Given the description of an element on the screen output the (x, y) to click on. 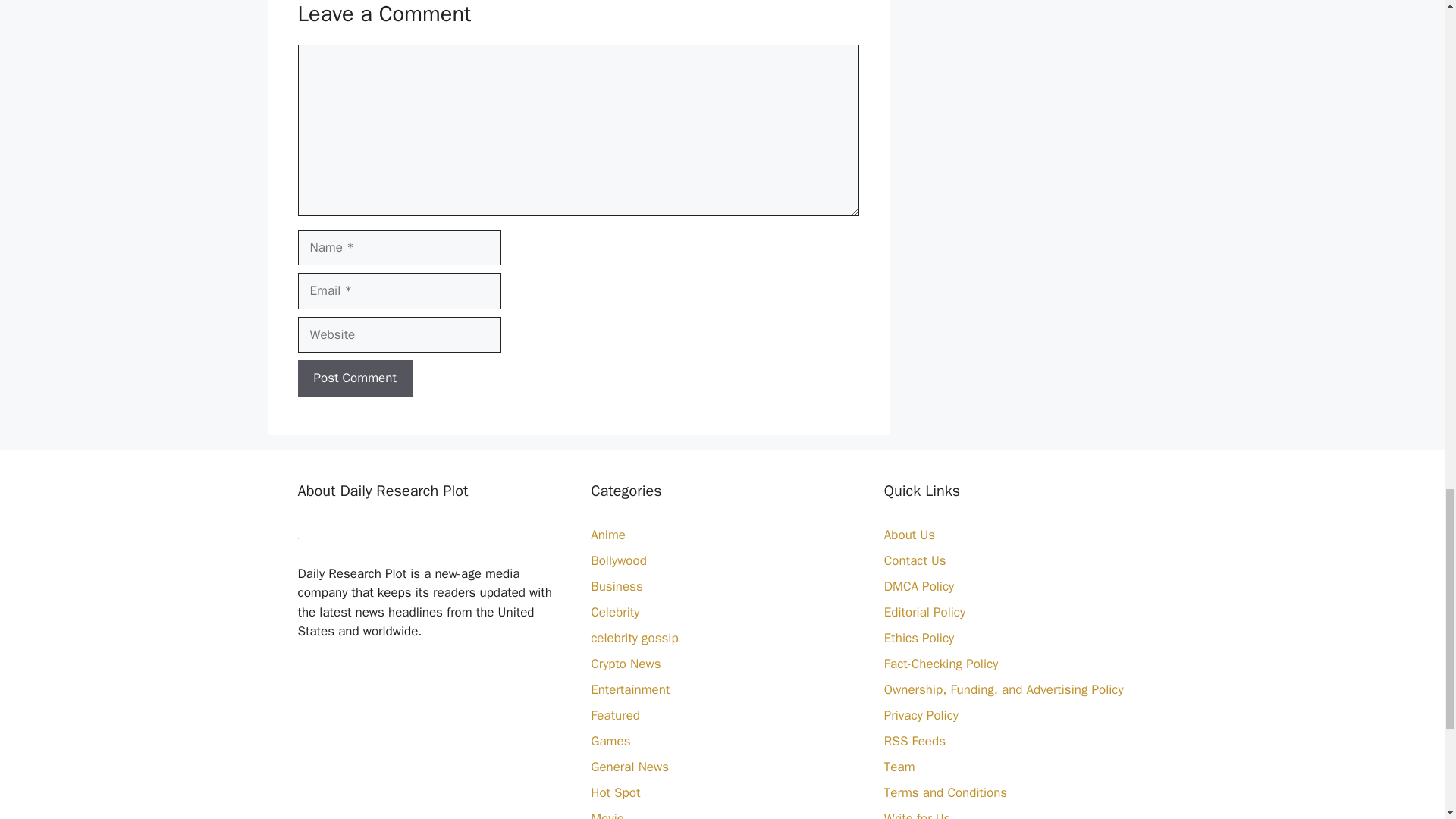
Post Comment (354, 378)
